Given the description of an element on the screen output the (x, y) to click on. 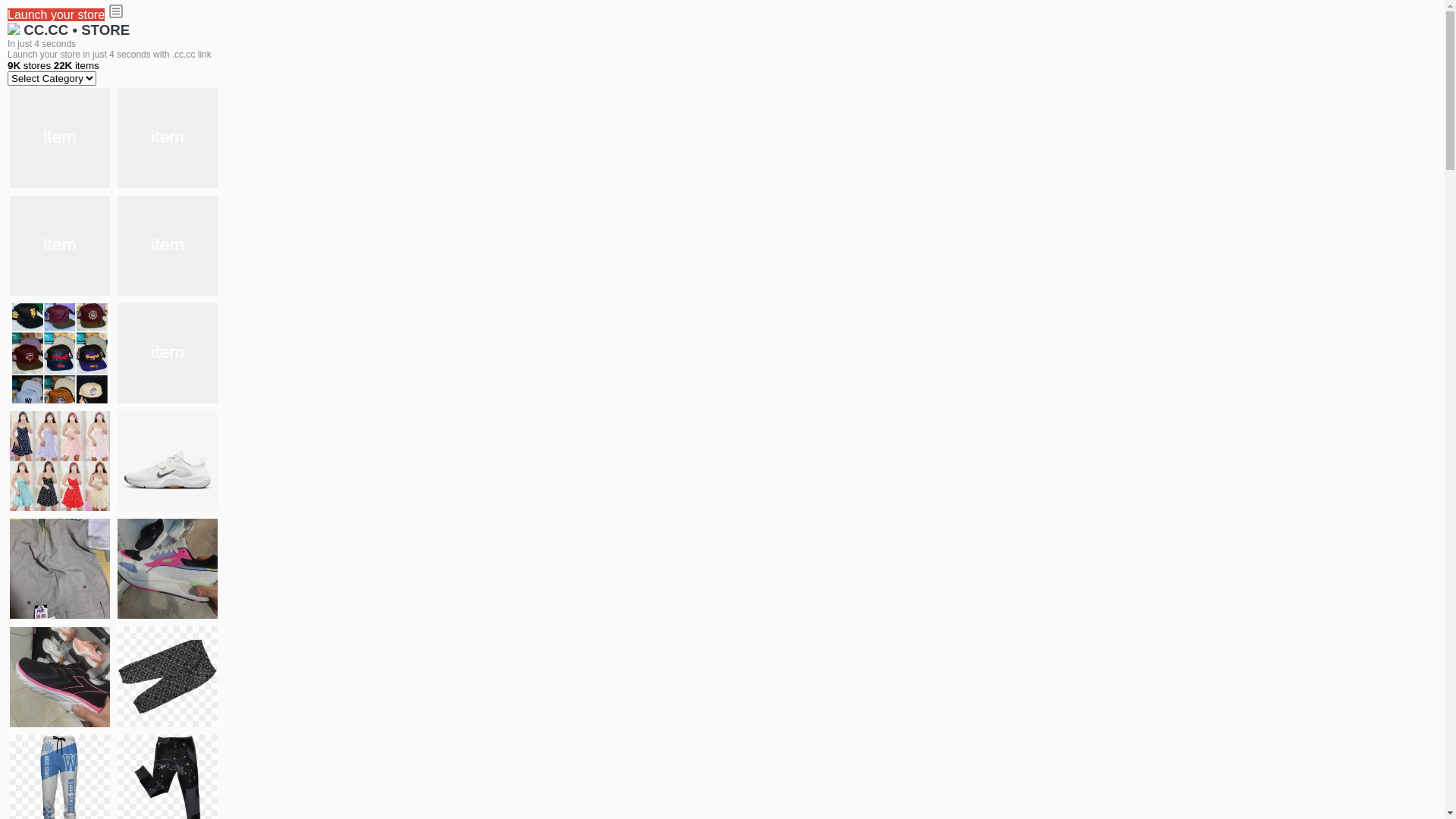
Zapatillas Element type: hover (59, 676)
Zapatillas pumas Element type: hover (167, 568)
Launch your store Element type: text (55, 14)
Things we need Element type: hover (59, 353)
Short pant Element type: hover (167, 676)
white shoes Element type: hover (167, 137)
Ukay cloth Element type: hover (167, 353)
Shoes Element type: hover (167, 461)
Shoes for boys Element type: hover (167, 245)
jacket Element type: hover (59, 137)
Dress/square nect top Element type: hover (59, 461)
shoes for boys Element type: hover (59, 245)
